Given the description of an element on the screen output the (x, y) to click on. 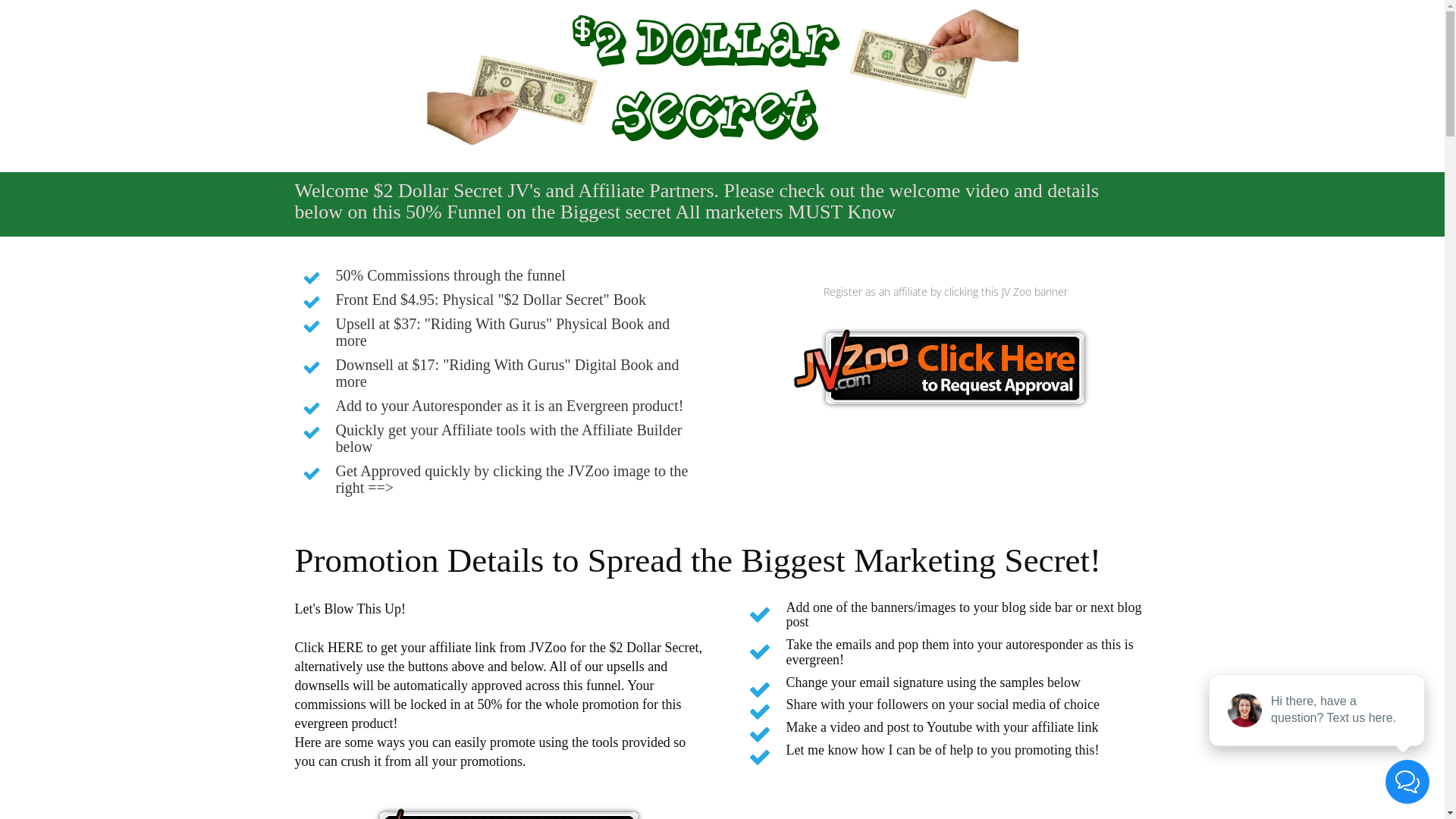
2DollarSecret_Header Element type: hover (721, 75)
HERE Element type: text (345, 647)
